Given the description of an element on the screen output the (x, y) to click on. 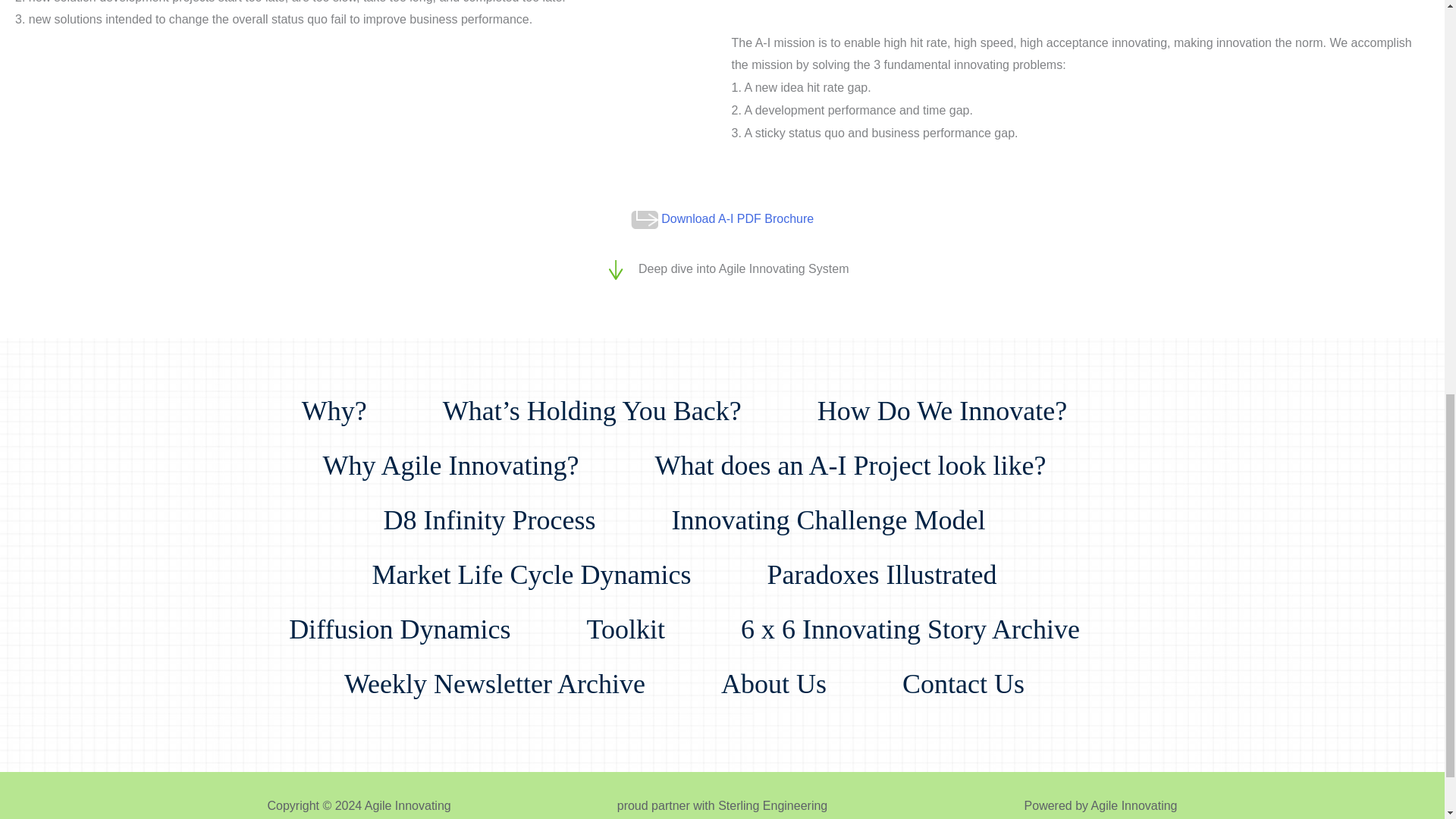
How Do We Innovate? (956, 395)
Download A-I PDF Brochure (737, 218)
Paradoxes Illustrated (896, 559)
D8 Infinity Process (505, 504)
Why? (349, 395)
Toolkit (640, 614)
Contact Us (978, 668)
Innovating Challenge Model (843, 504)
Market Life Cycle Dynamics (547, 559)
Why Agile Innovating? (466, 450)
6 x 6 Innovating Story Archive (925, 614)
What does an A-I Project look like? (866, 450)
Diffusion Dynamics (414, 614)
Weekly Newsletter Archive (509, 668)
About Us (788, 668)
